Given the description of an element on the screen output the (x, y) to click on. 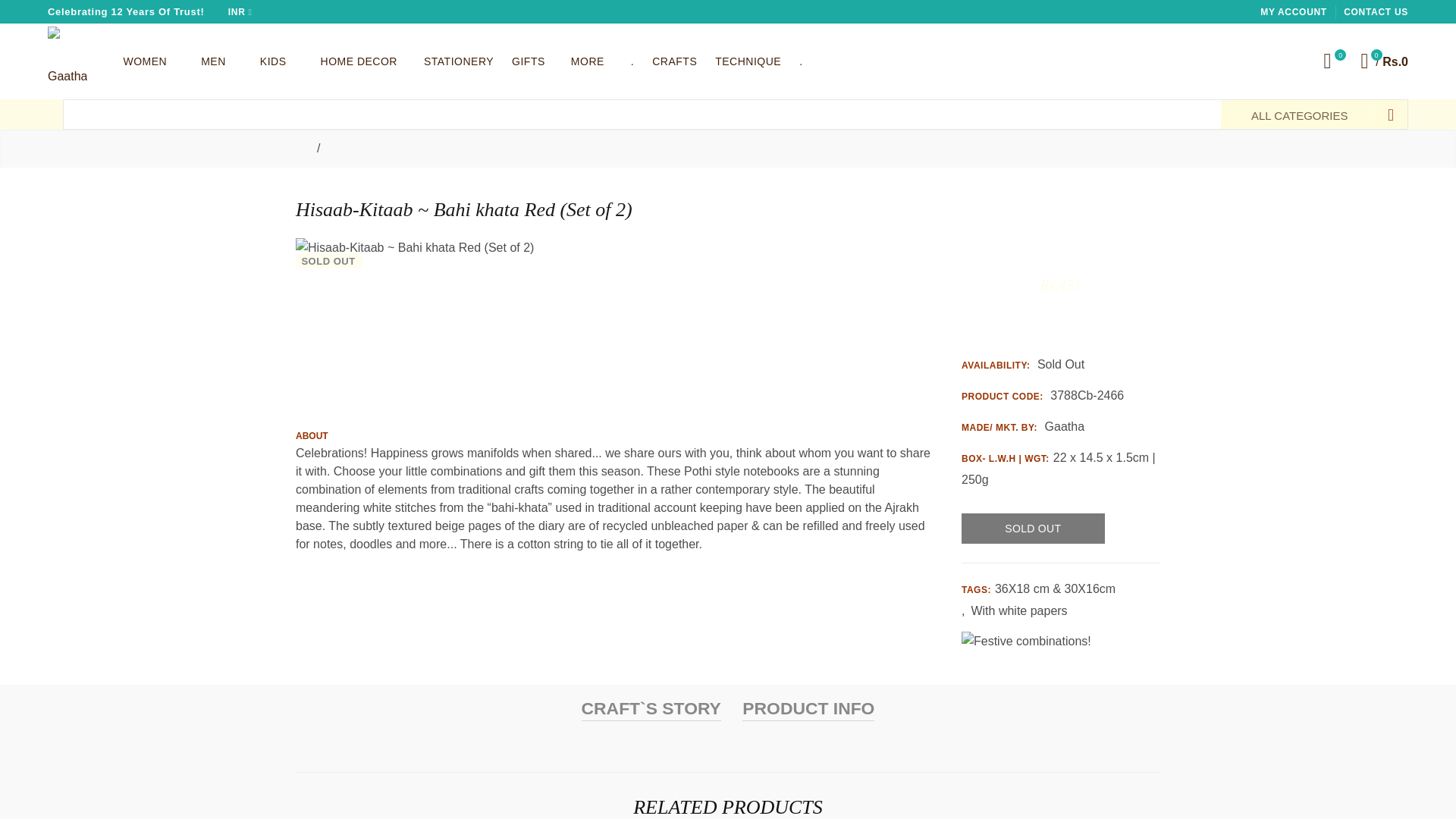
Festive combinations! (1025, 641)
